Given the description of an element on the screen output the (x, y) to click on. 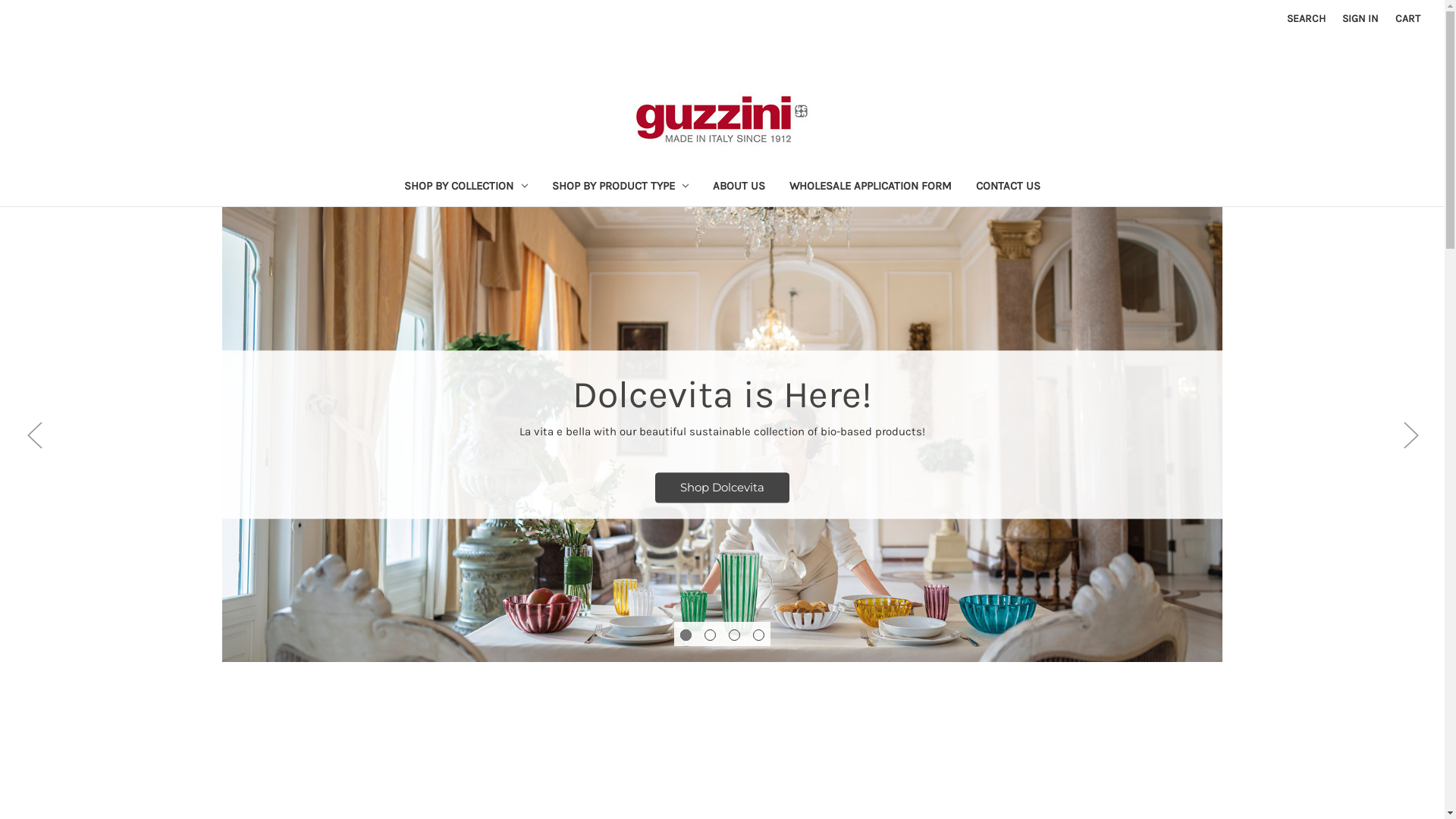
SIGN IN Element type: text (1359, 18)
hero-prev-arrow Element type: text (33, 434)
CART Element type: text (1407, 18)
SEARCH Element type: text (1305, 18)
Fratelli Guzzini Element type: hover (722, 117)
WHOLESALE APPLICATION FORM Element type: text (870, 187)
SHOP BY PRODUCT TYPE Element type: text (620, 187)
hero-next-arrow Element type: text (1410, 434)
ABOUT US Element type: text (738, 187)
SHOP BY COLLECTION Element type: text (465, 187)
CONTACT US Element type: text (1007, 187)
